Given the description of an element on the screen output the (x, y) to click on. 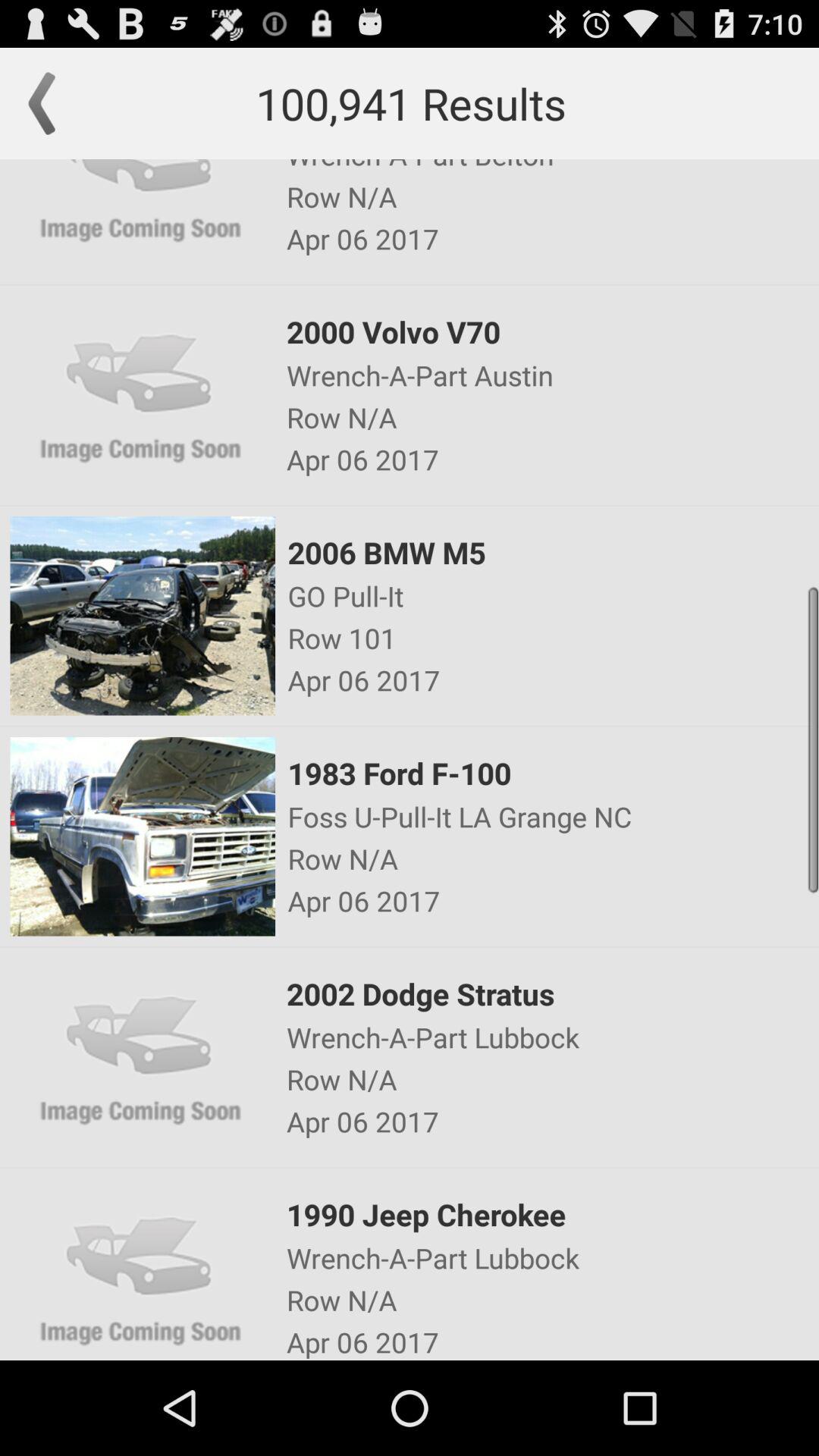
flip until the 2006 bmw m5 icon (551, 552)
